Given the description of an element on the screen output the (x, y) to click on. 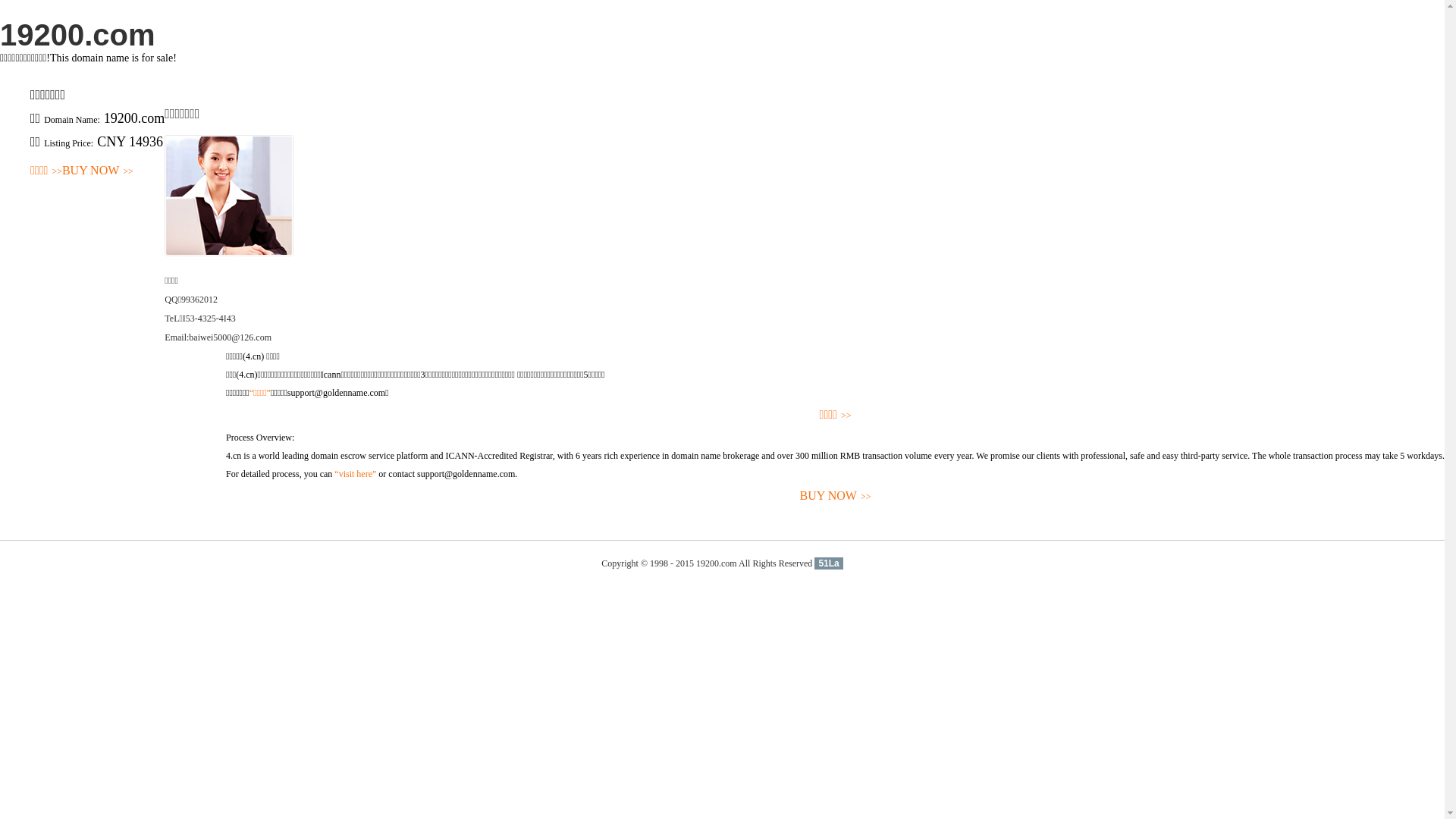
51La Element type: text (828, 563)
BUY NOW>> Element type: text (97, 170)
BUY NOW>> Element type: text (834, 496)
